Given the description of an element on the screen output the (x, y) to click on. 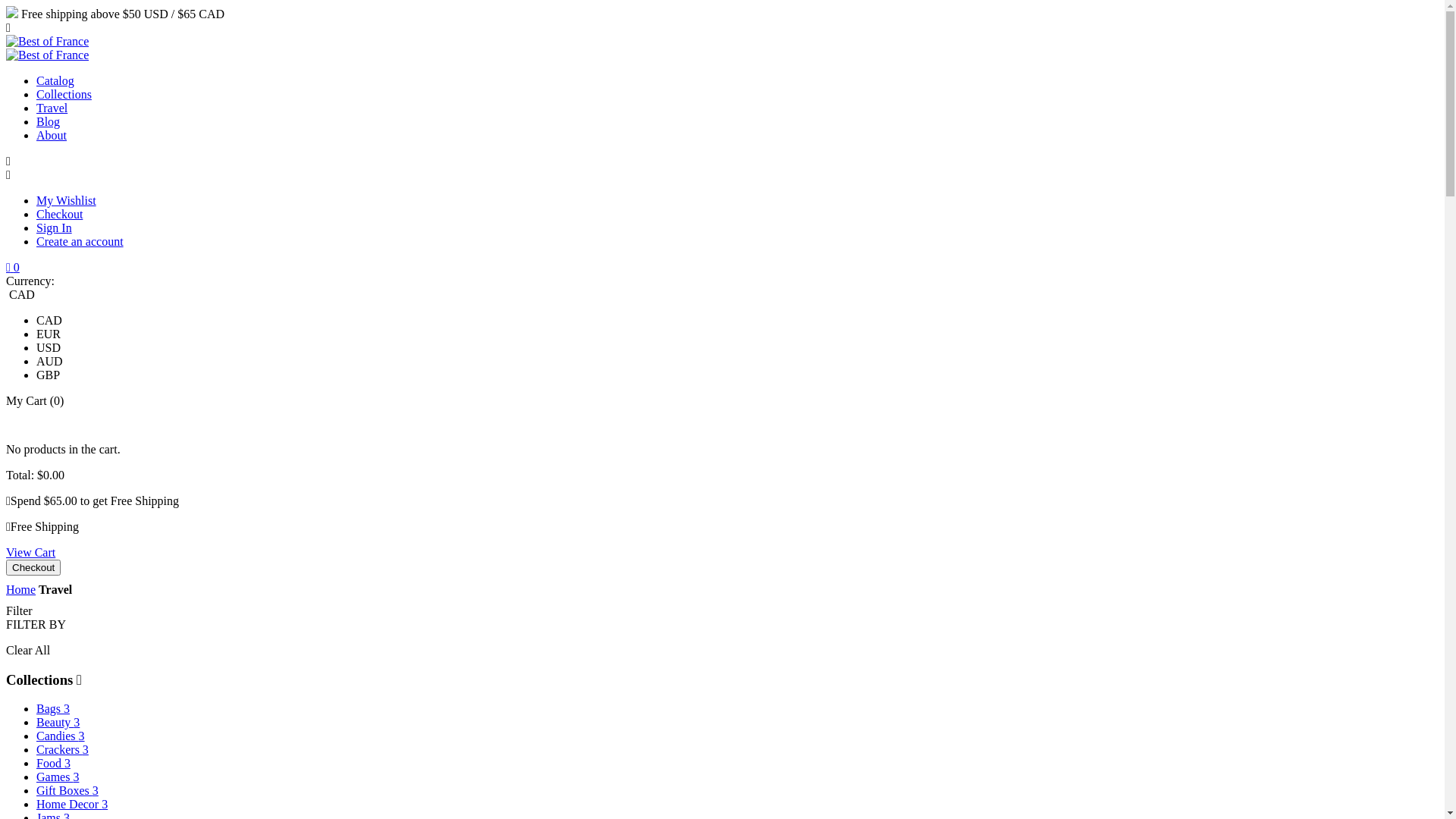
Catalog Element type: text (55, 80)
Create an account Element type: text (79, 241)
Games 3 Element type: text (57, 776)
Checkout Element type: text (33, 567)
Beauty 3 Element type: text (57, 721)
0 Element type: text (12, 266)
AUD Element type: text (49, 360)
GBP Element type: text (47, 374)
USD Element type: text (48, 347)
Home Element type: text (20, 589)
Blog Element type: text (47, 121)
Bags 3 Element type: text (52, 708)
Candies 3 Element type: text (60, 735)
View Cart Element type: text (30, 552)
Sign In Element type: text (54, 227)
Crackers 3 Element type: text (62, 749)
Home Decor 3 Element type: text (71, 803)
Collections Element type: text (63, 93)
Food 3 Element type: text (53, 762)
Travel Element type: text (51, 107)
CAD Element type: text (49, 319)
Gift Boxes 3 Element type: text (67, 790)
Clear All Element type: text (28, 649)
EUR Element type: text (48, 333)
About Element type: text (51, 134)
Checkout Element type: text (59, 213)
My Wishlist Element type: text (66, 200)
